Given the description of an element on the screen output the (x, y) to click on. 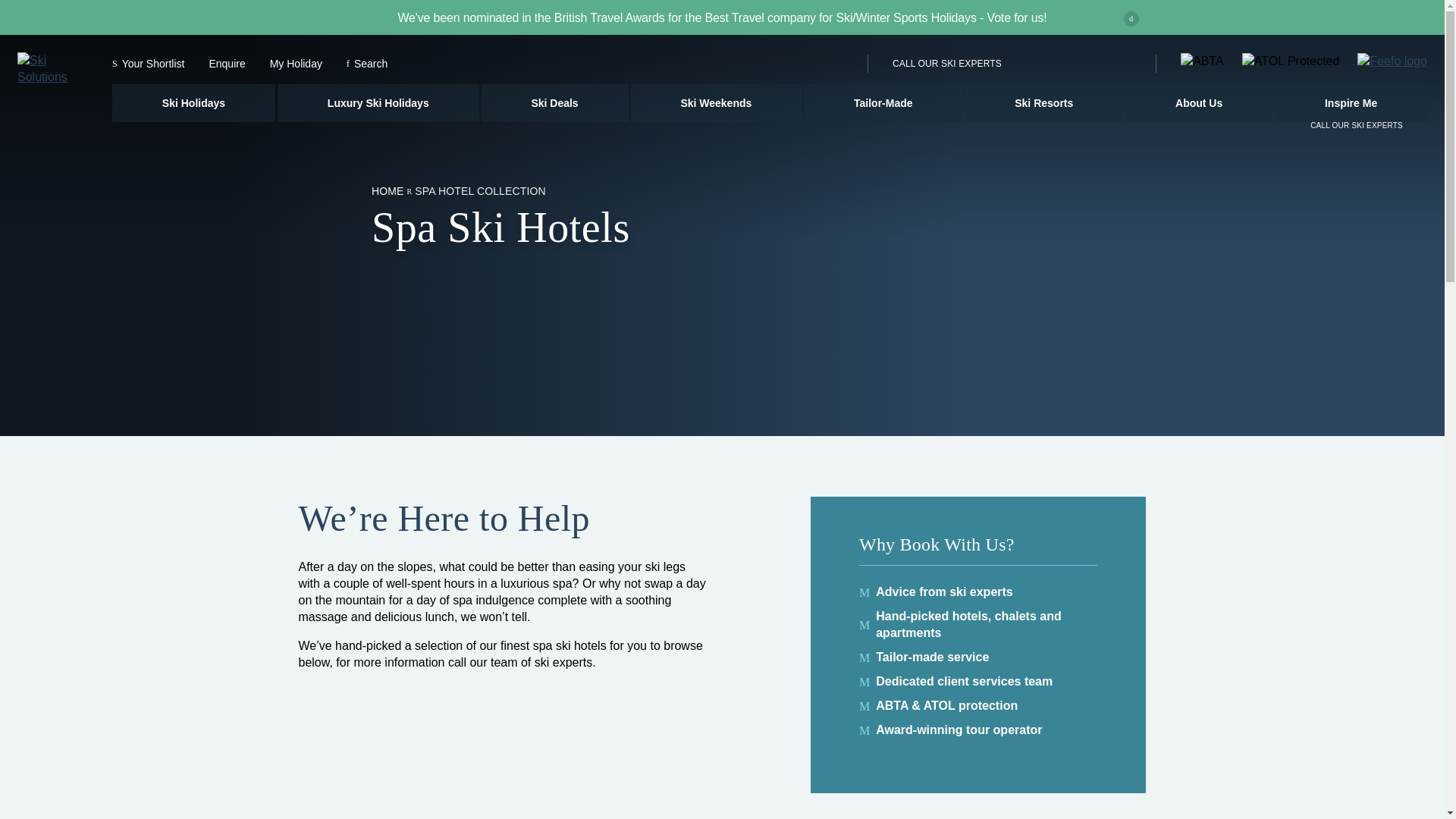
Inspire Me (1350, 103)
Ski Holidays (193, 103)
Ski Resorts (1042, 103)
See what our customers say about us (1391, 61)
Tailor-Made (882, 103)
Luxury Ski Holidays (378, 103)
My Holiday (295, 63)
Your Shortlist (148, 63)
Search (366, 63)
About Us (1198, 103)
